Given the description of an element on the screen output the (x, y) to click on. 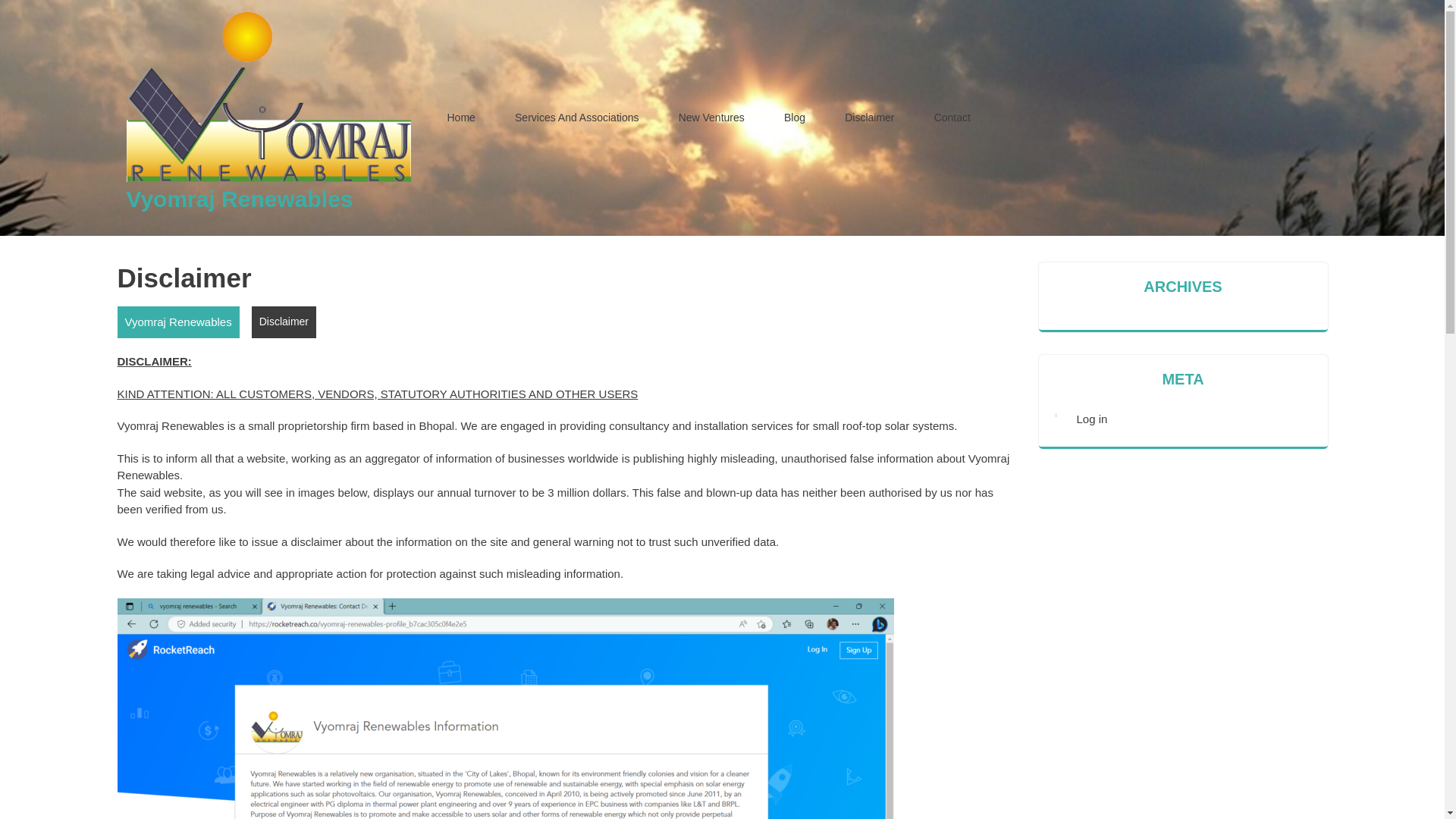
Vyomraj Renewables (177, 322)
Blog (794, 117)
Services And Associations (576, 117)
Log in (1092, 418)
Home (461, 117)
Vyomraj Renewables (238, 198)
Disclaimer (869, 117)
Contact (951, 117)
New Ventures (711, 117)
